Given the description of an element on the screen output the (x, y) to click on. 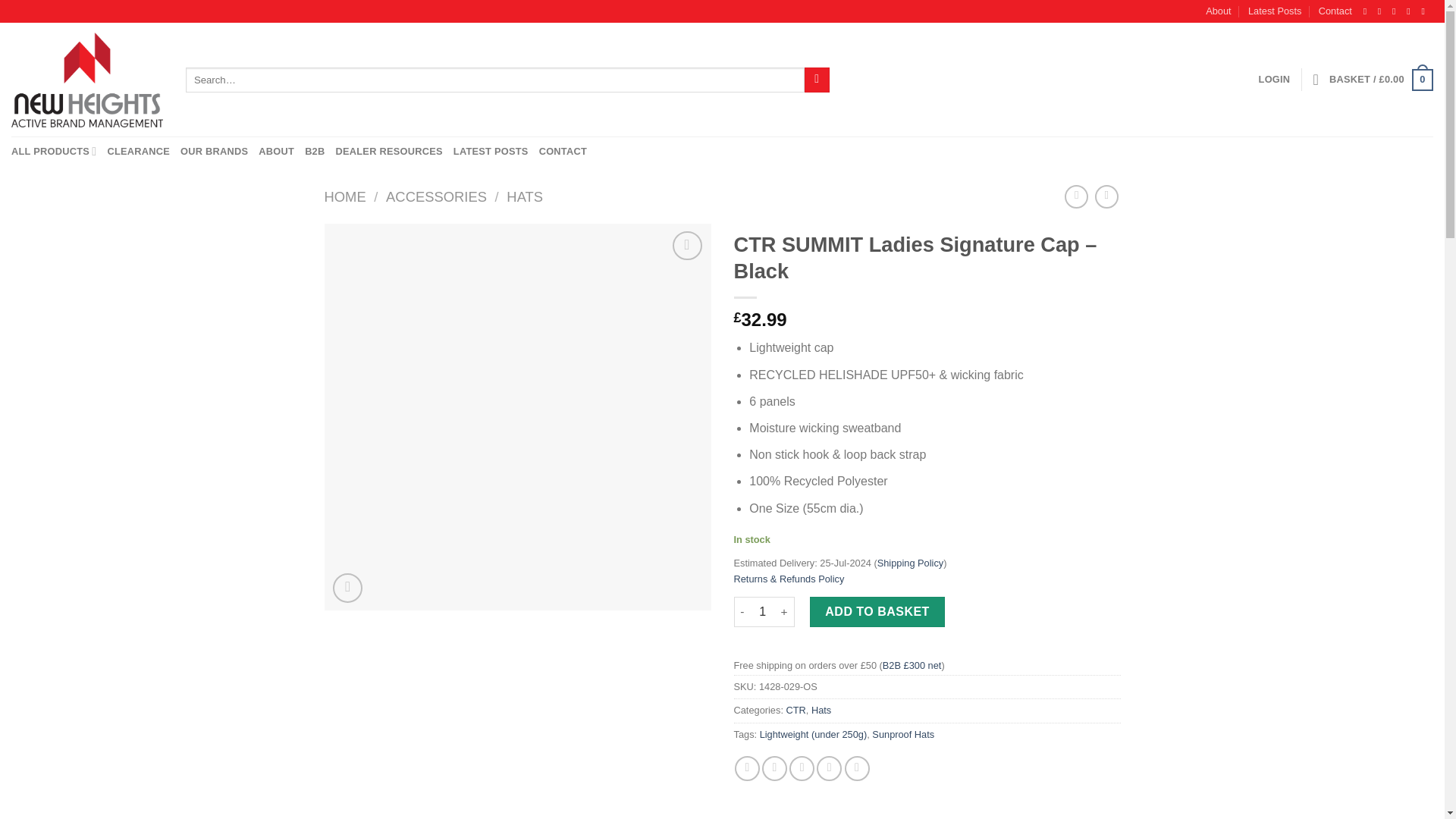
Contact (1335, 11)
New Heights - Active Brand Management (87, 79)
Share on Facebook (747, 768)
Zoom (347, 587)
LOGIN (1274, 79)
Latest Posts (1274, 11)
ALL PRODUCTS (53, 151)
Share on Twitter (774, 768)
Search (817, 80)
About (1217, 11)
Basket (1380, 79)
